Given the description of an element on the screen output the (x, y) to click on. 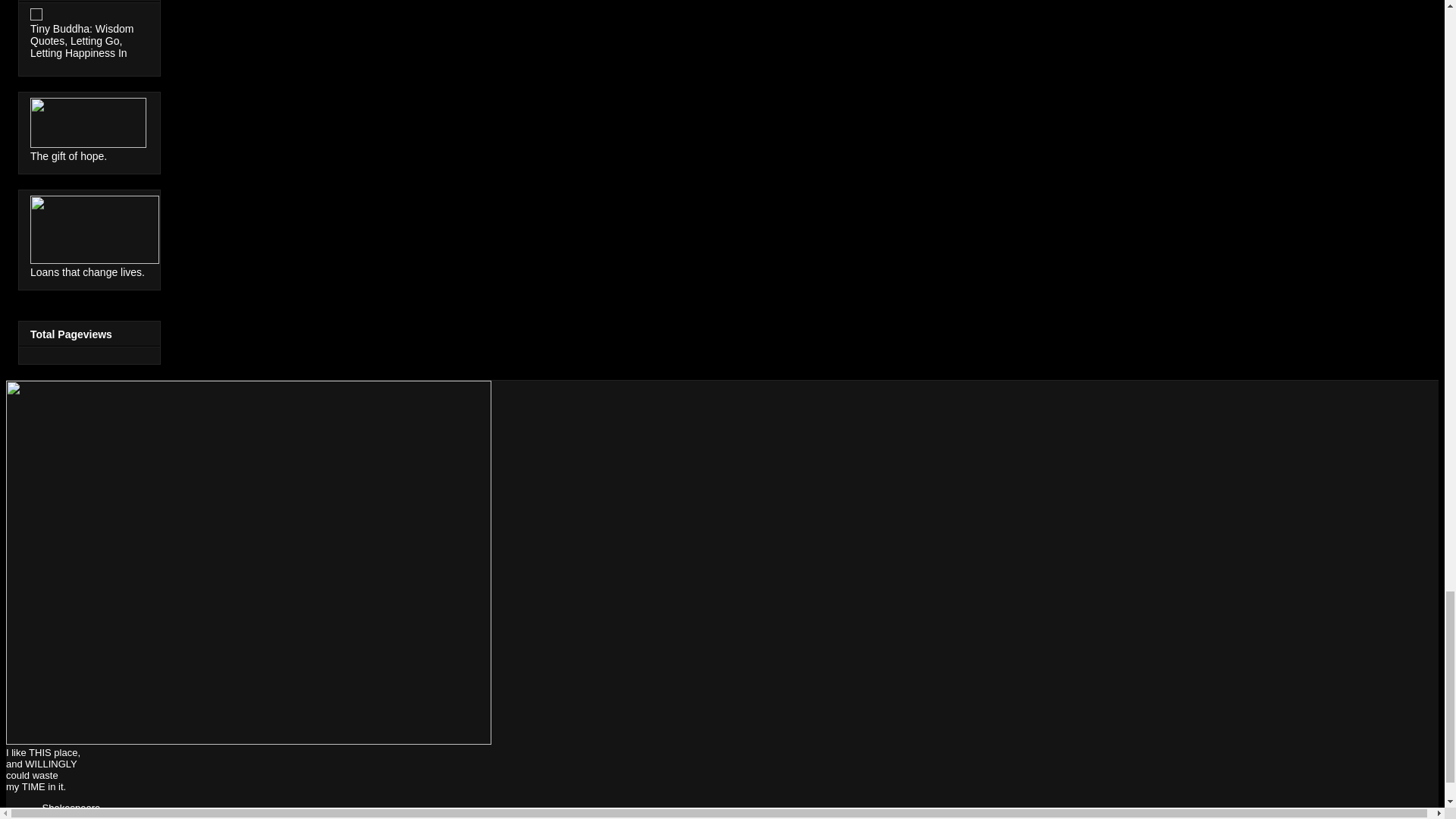
Tiny Buddha: Wisdom Quotes, Letting Go, Letting Happiness In (81, 40)
